Given the description of an element on the screen output the (x, y) to click on. 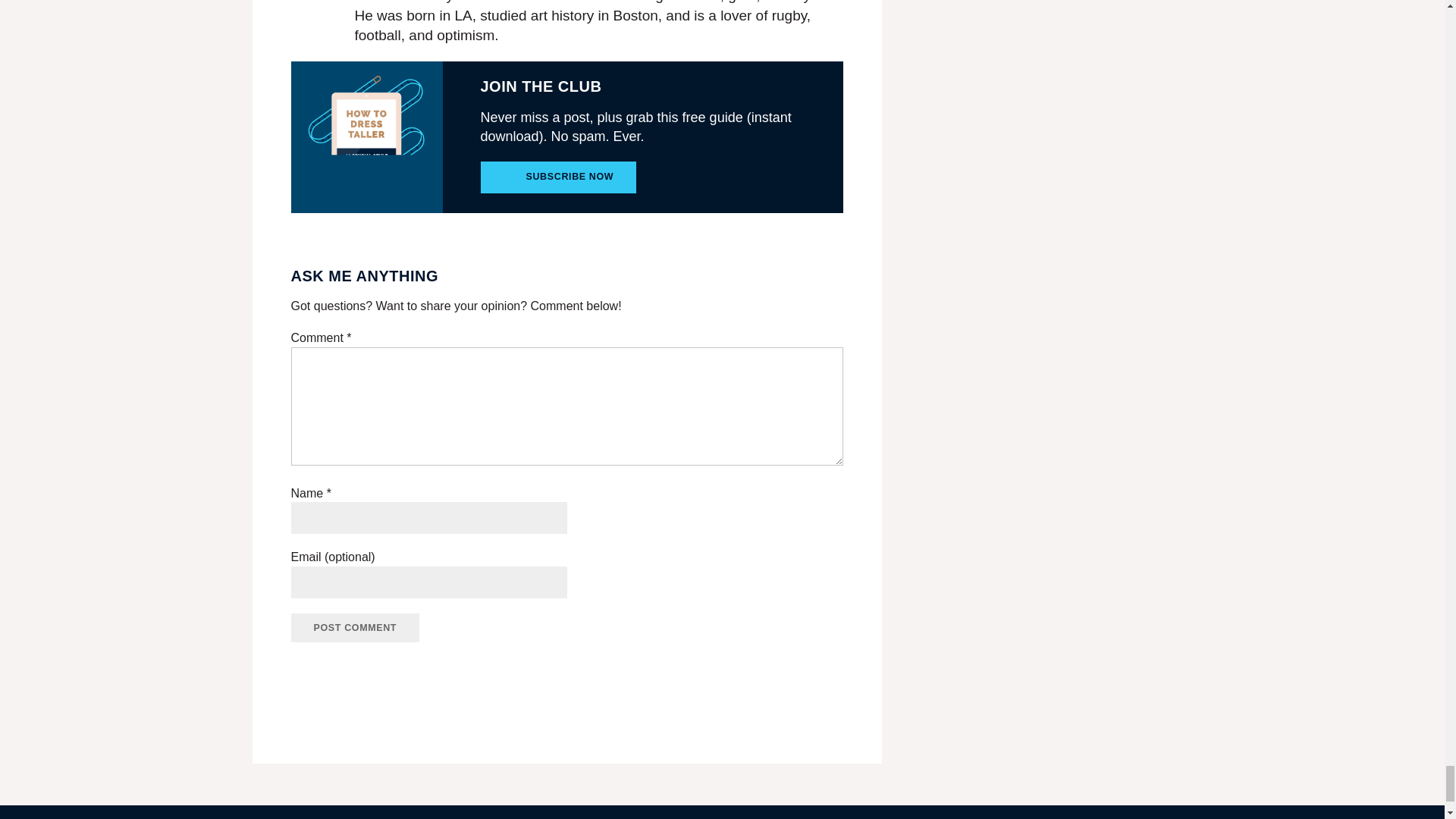
Post Comment (355, 627)
